Given the description of an element on the screen output the (x, y) to click on. 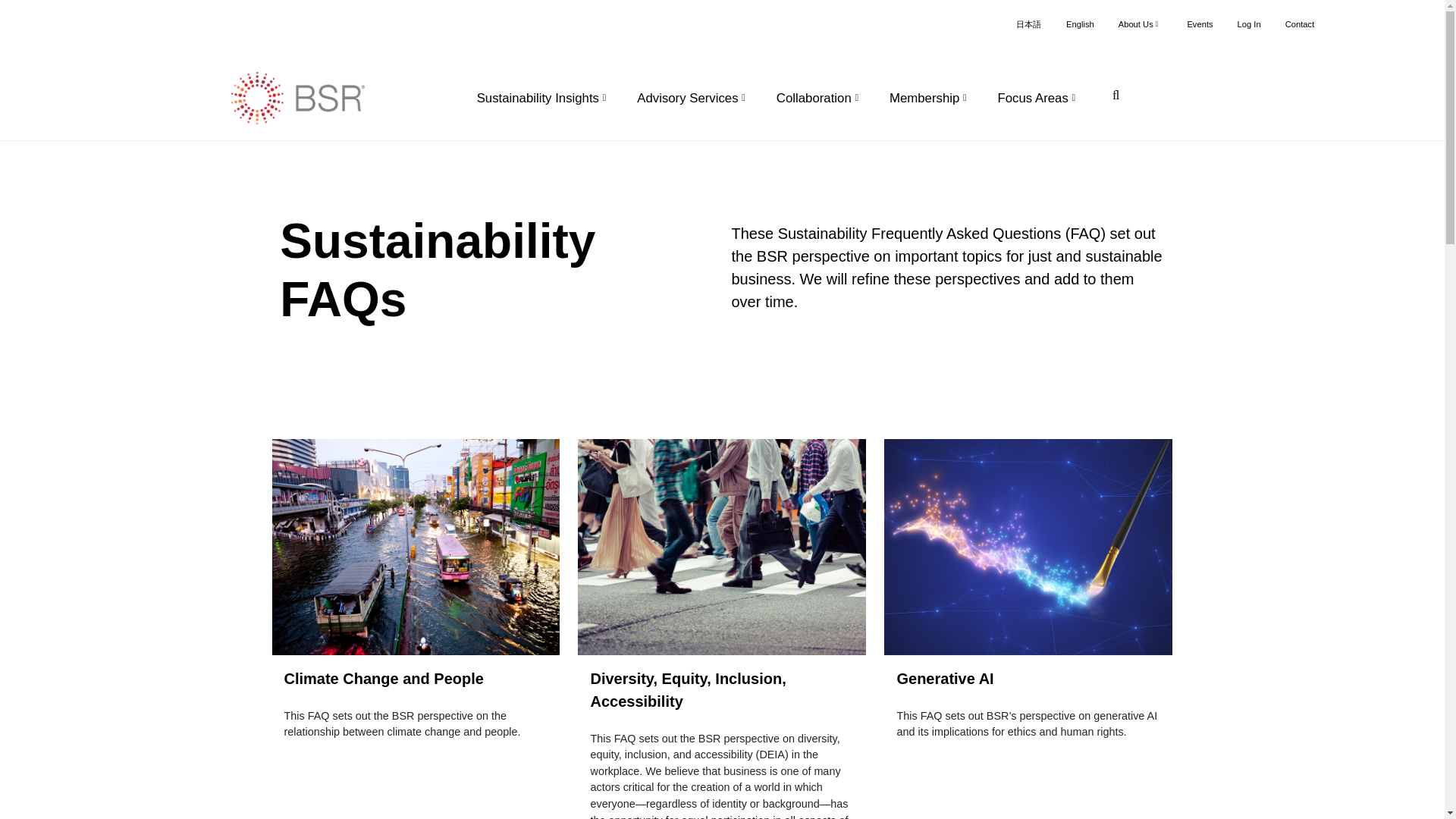
English (1079, 24)
Log In (1248, 24)
Advisory Services  (694, 97)
Events (1199, 24)
Sustainability Insights  (545, 97)
About Us  (1140, 24)
Contact (1299, 24)
